Given the description of an element on the screen output the (x, y) to click on. 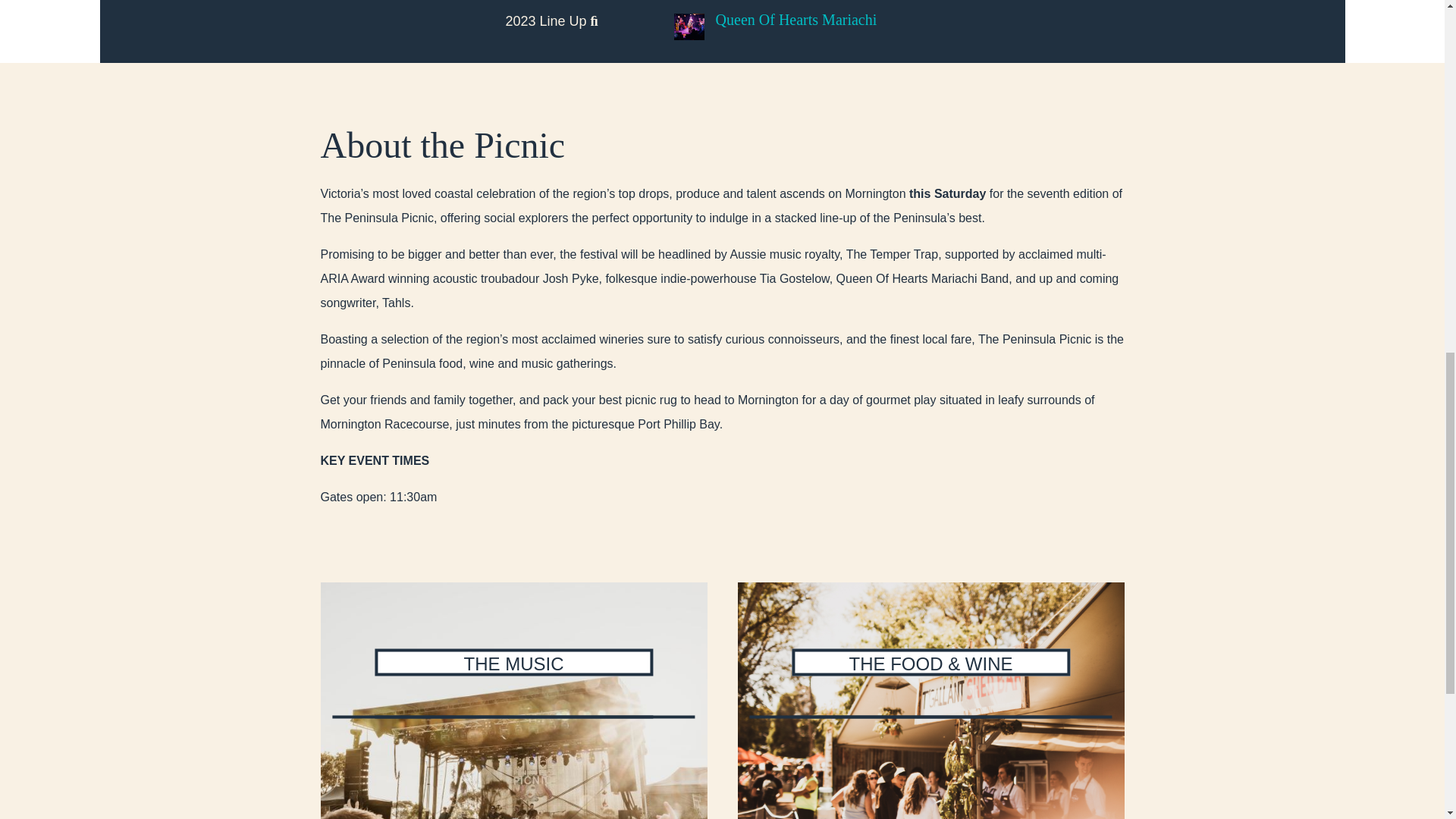
THE MUSIC (513, 700)
